Given the description of an element on the screen output the (x, y) to click on. 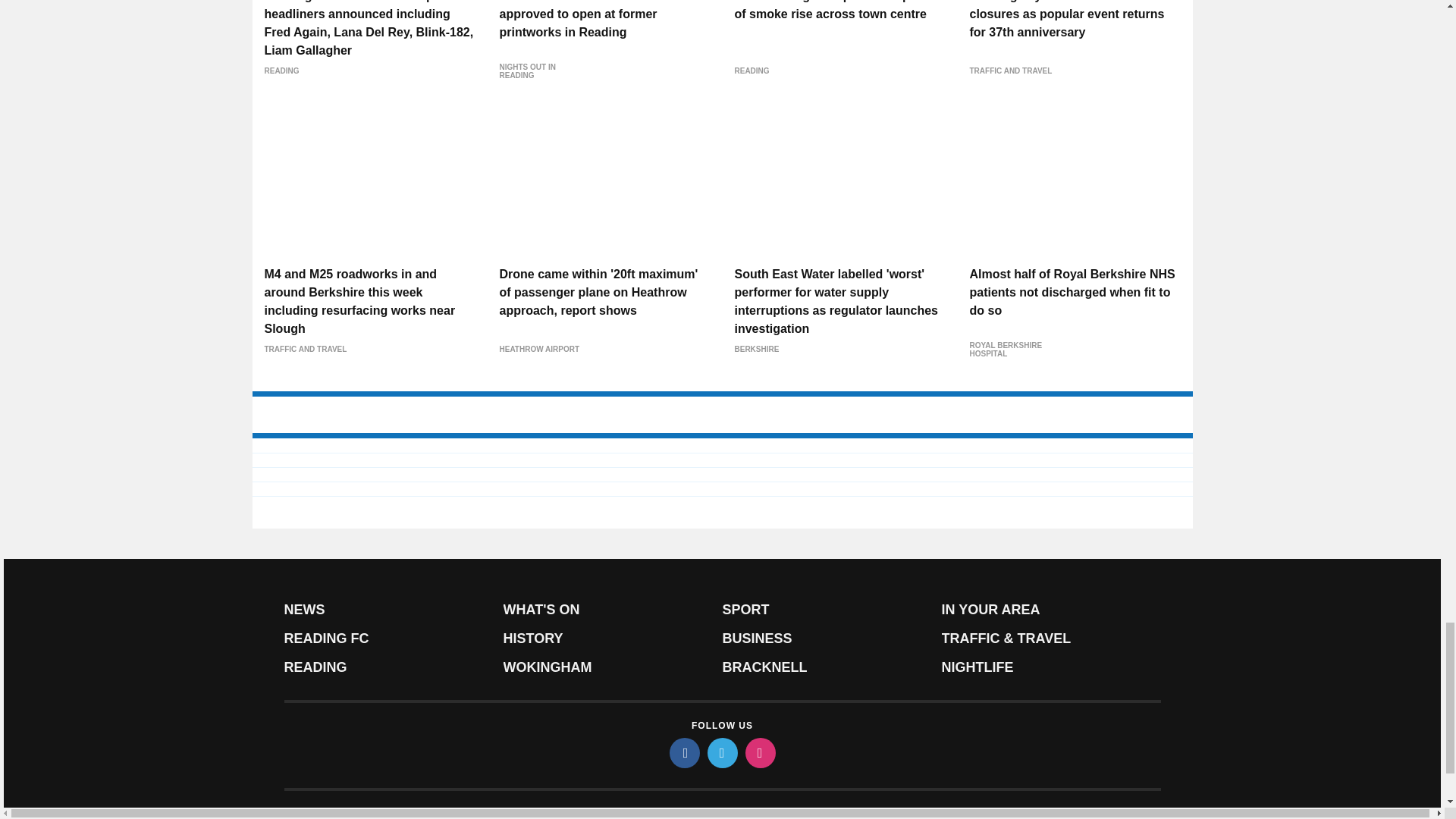
twitter (721, 752)
facebook (683, 752)
instagram (759, 752)
